Given the description of an element on the screen output the (x, y) to click on. 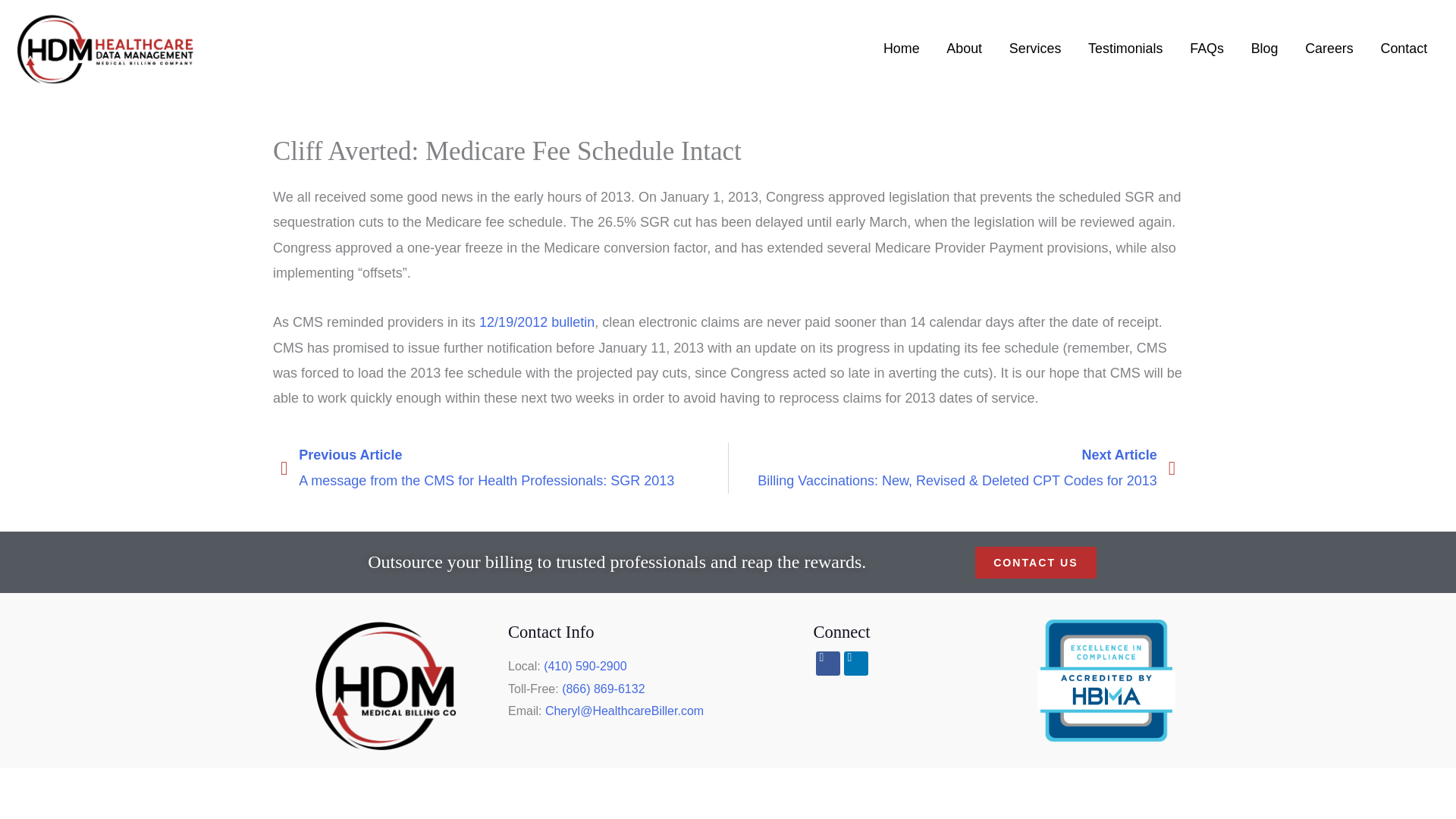
FAQs (1206, 48)
CONTACT US (1035, 562)
Testimonials (1125, 48)
Careers (1329, 48)
Home (901, 48)
About (963, 48)
Blog (1264, 48)
Contact (1404, 48)
Linkedin (855, 663)
Facebook (827, 663)
Services (1034, 48)
